Given the description of an element on the screen output the (x, y) to click on. 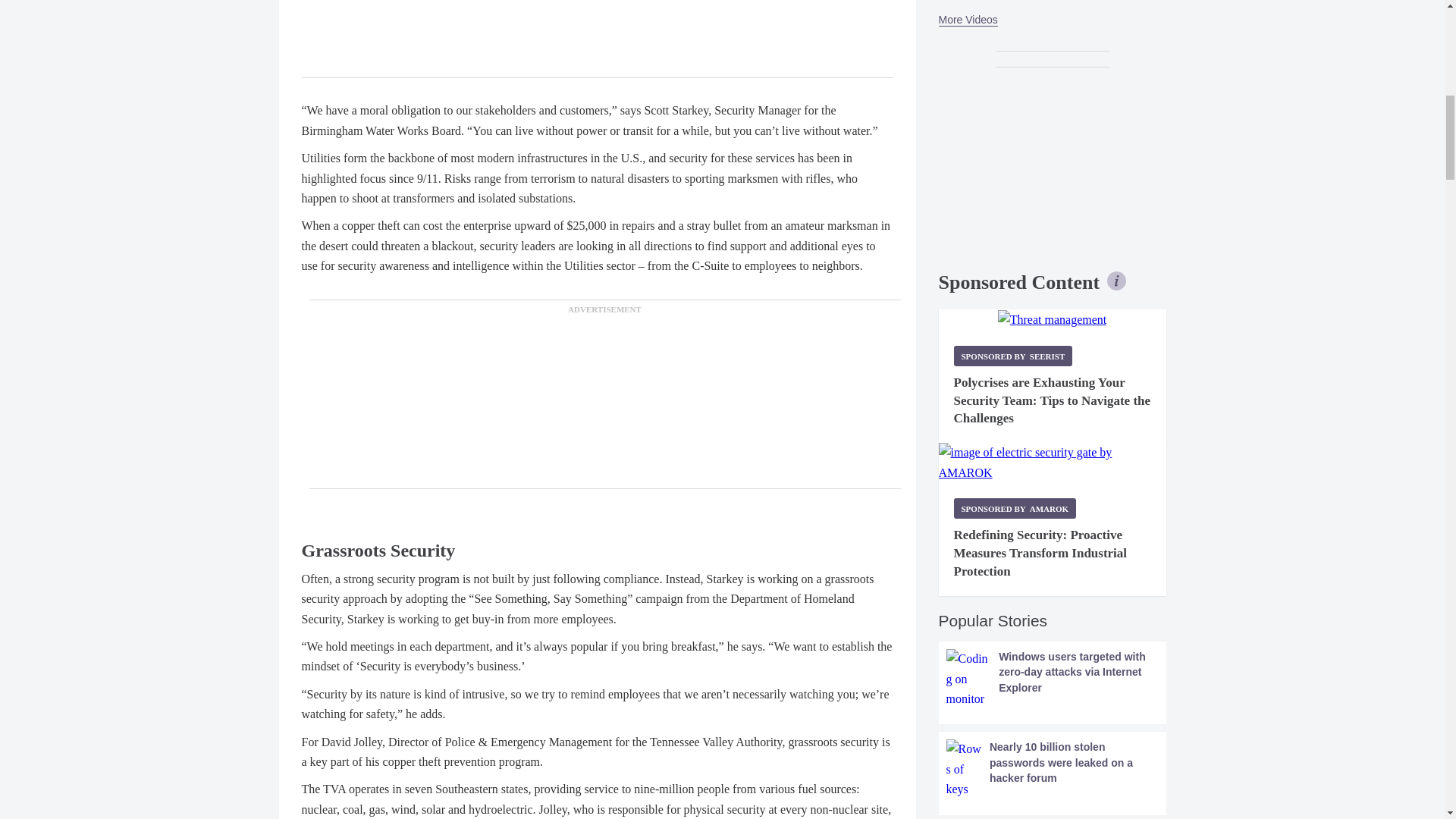
Sponsored by Seerist (1013, 355)
Sponsored by AMAROK (1015, 507)
Threat management (1051, 320)
AMAROK Security Gate (1052, 463)
